Given the description of an element on the screen output the (x, y) to click on. 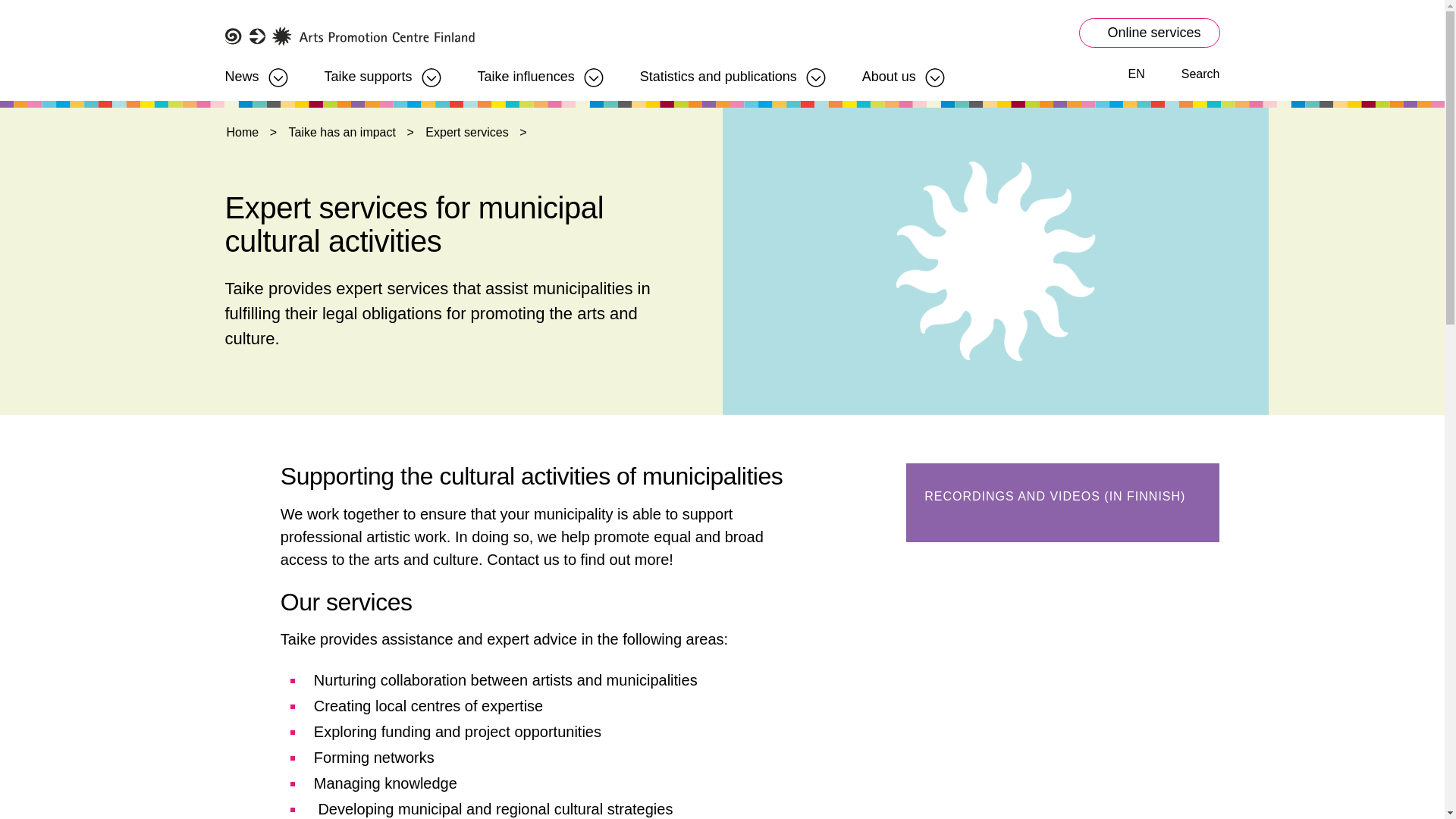
Taike supports (368, 71)
Taike influences (526, 71)
Home page (349, 36)
Online services (1149, 32)
Taike (349, 36)
Apurahat ja avustukset (368, 71)
News (241, 71)
